Given the description of an element on the screen output the (x, y) to click on. 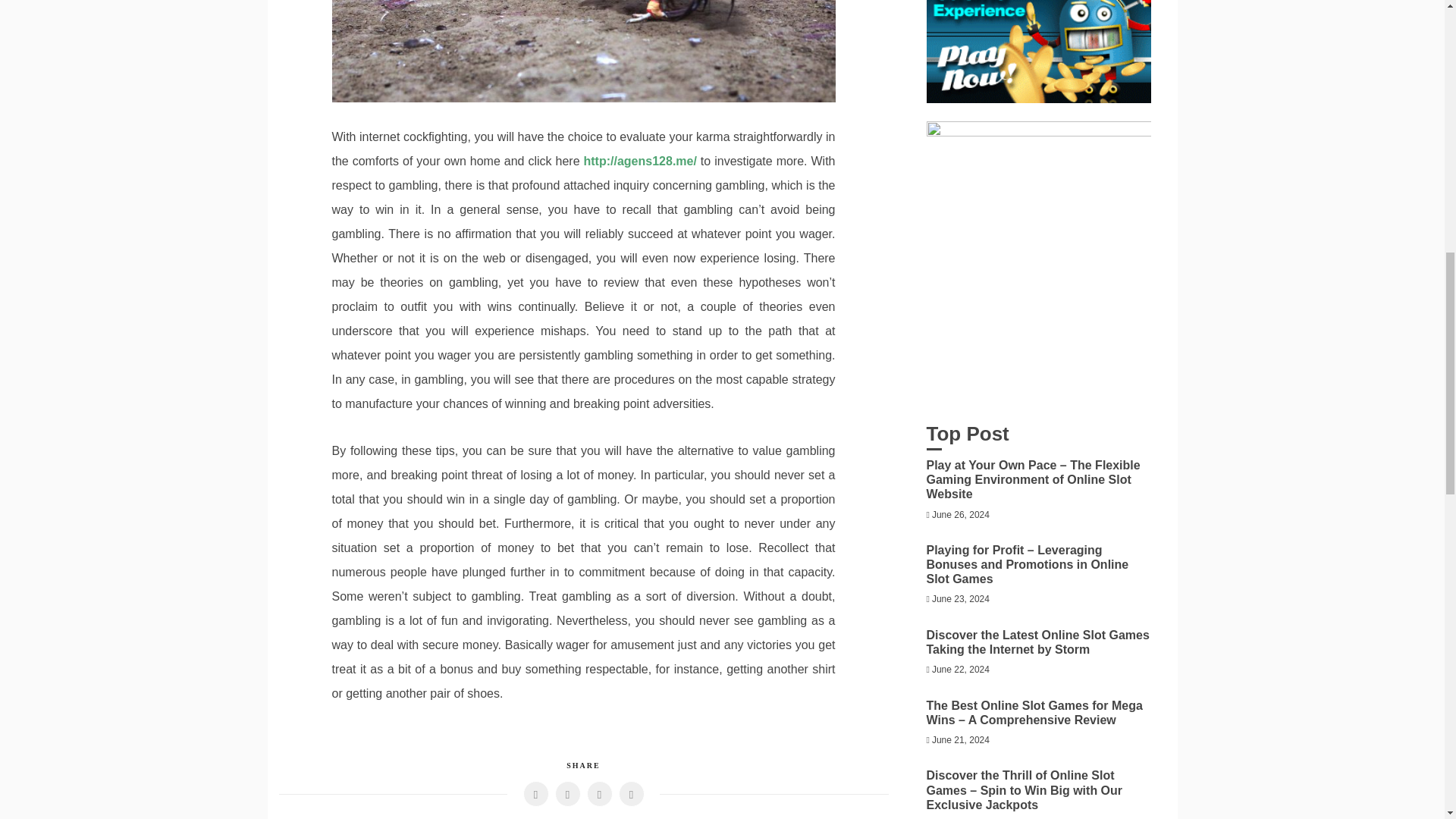
June 23, 2024 (960, 598)
June 26, 2024 (960, 514)
